Given the description of an element on the screen output the (x, y) to click on. 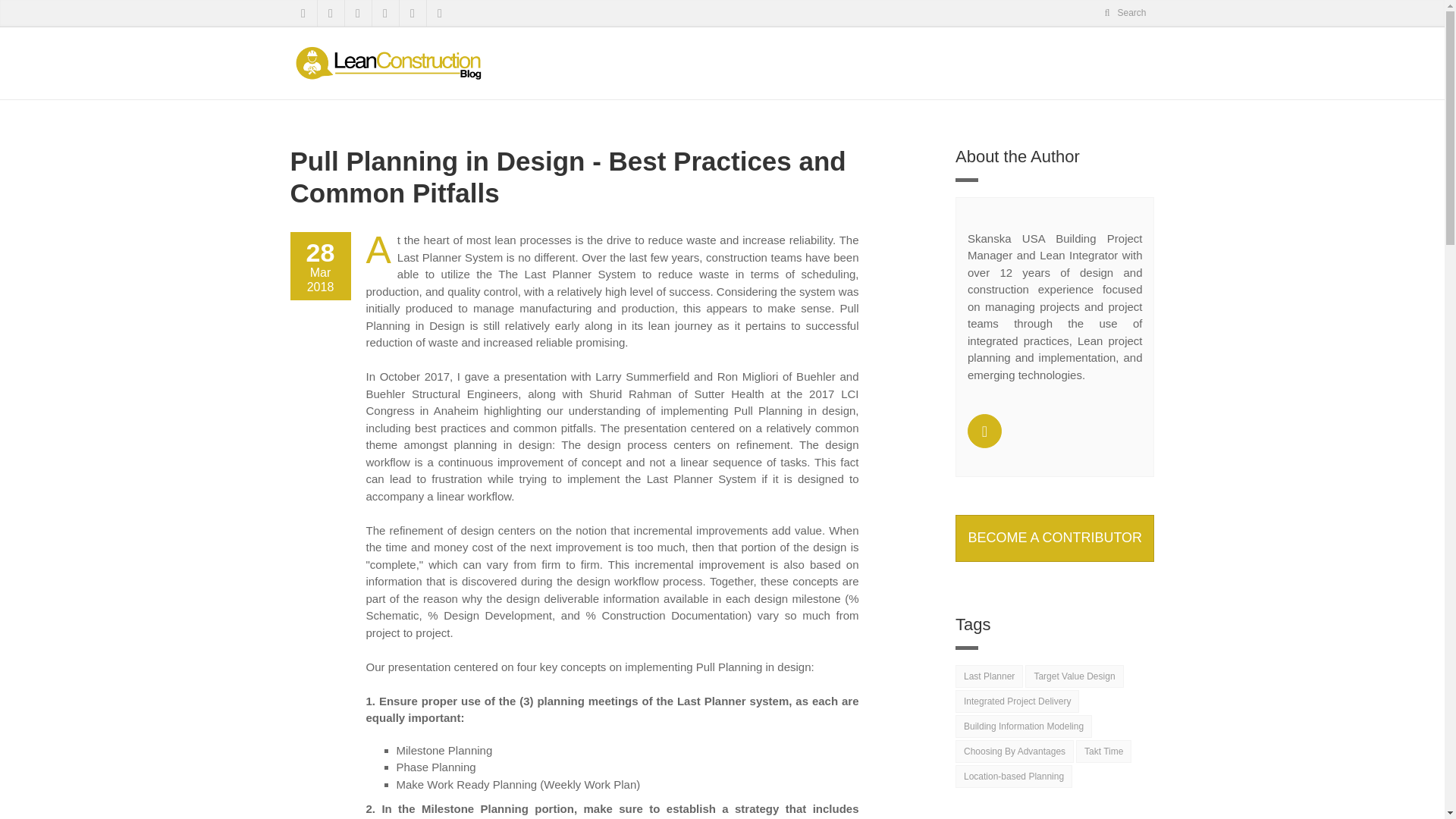
Target Value Design (1073, 676)
Search (1124, 13)
Integrated Project Delivery (1016, 701)
Building Information Modeling (1023, 725)
BECOME A CONTRIBUTOR (1054, 538)
Choosing By Advantages (1014, 751)
Last Planner (989, 676)
